Given the description of an element on the screen output the (x, y) to click on. 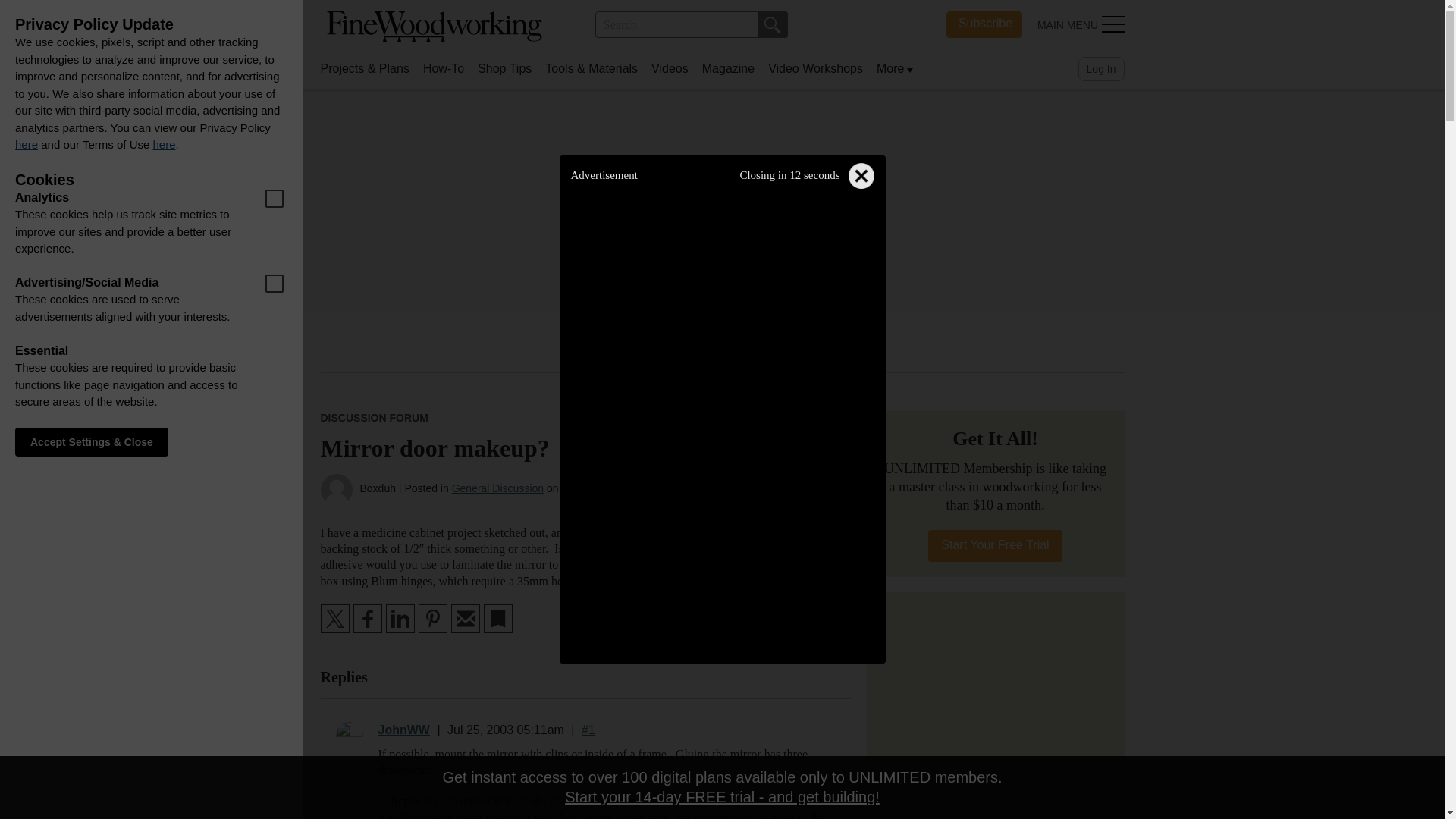
How-To (443, 68)
Videos (669, 68)
MAGNIFYING GLASS ICON (772, 24)
More (772, 24)
Subscribe (890, 68)
Shop Tips (984, 24)
JohnWW (504, 68)
Fine Woodworking Logo (403, 729)
